Given the description of an element on the screen output the (x, y) to click on. 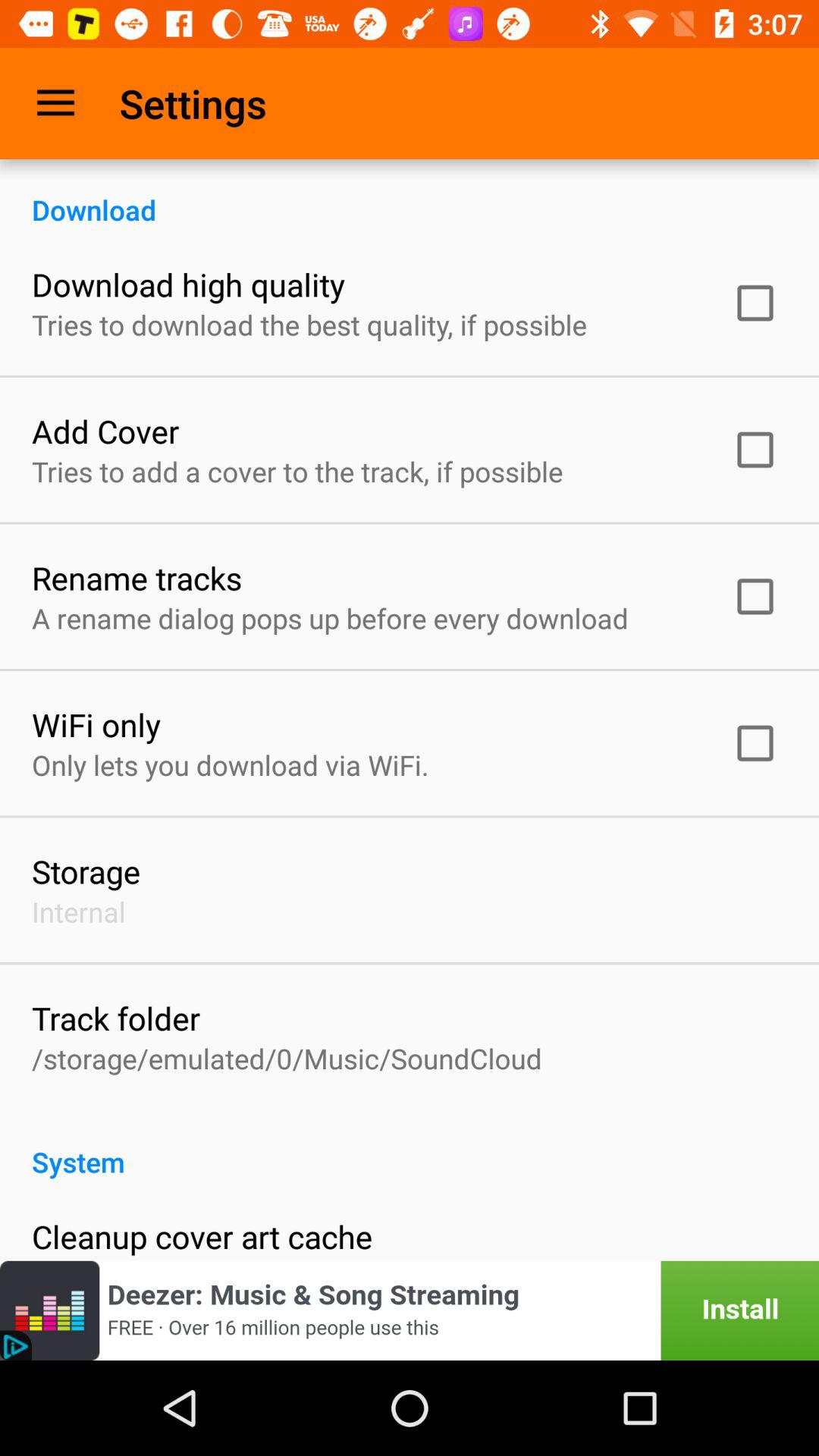
launch the internal (78, 911)
